Given the description of an element on the screen output the (x, y) to click on. 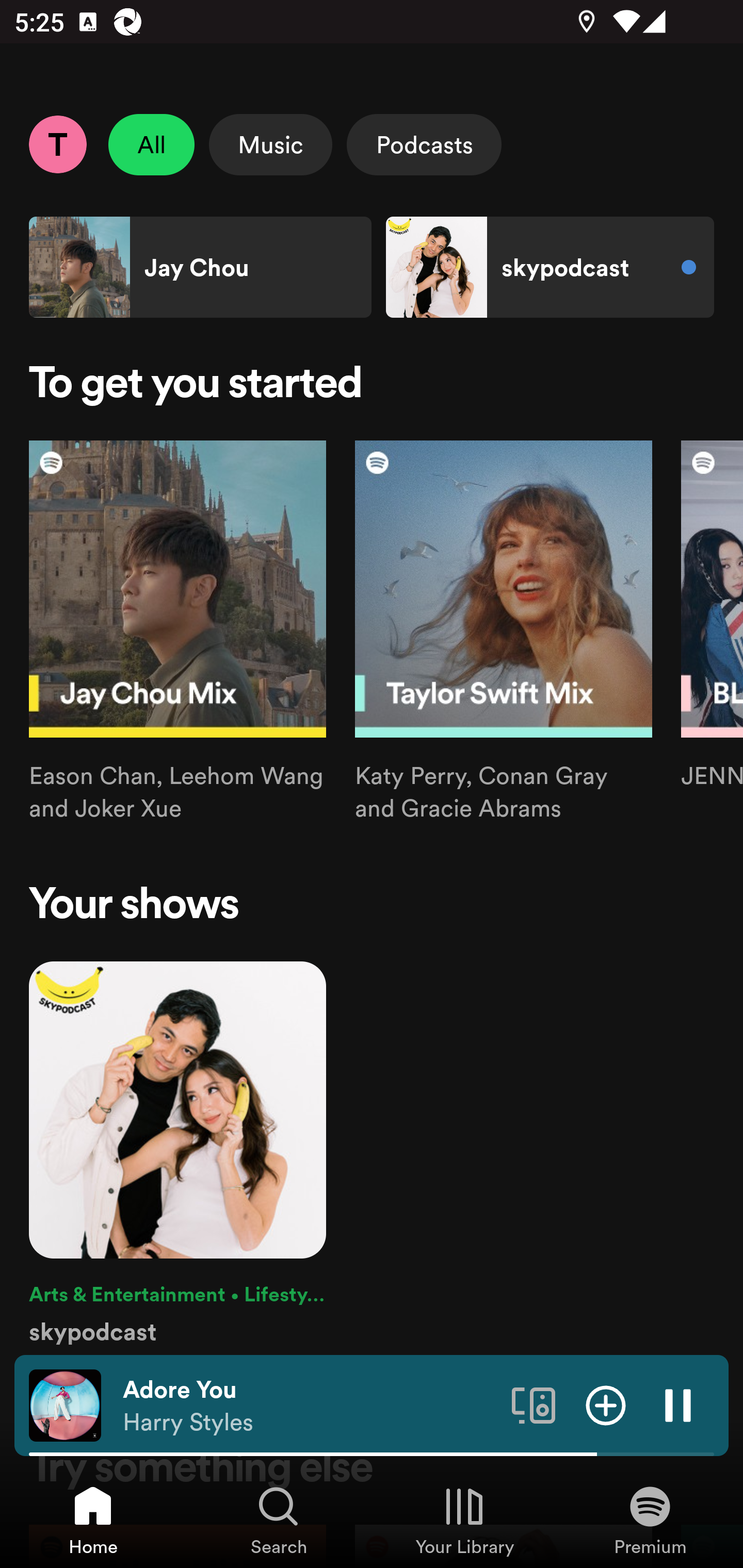
Profile (57, 144)
All Unselect All (151, 144)
Music Select Music (270, 144)
Podcasts Select Podcasts (423, 144)
Jay Chou Shortcut Jay Chou (199, 267)
skypodcast Shortcut skypodcast New content (549, 267)
Adore You Harry Styles (309, 1405)
The cover art of the currently playing track (64, 1404)
Connect to a device. Opens the devices menu (533, 1404)
Add item (605, 1404)
Pause (677, 1404)
Home, Tab 1 of 4 Home Home (92, 1519)
Search, Tab 2 of 4 Search Search (278, 1519)
Your Library, Tab 3 of 4 Your Library Your Library (464, 1519)
Premium, Tab 4 of 4 Premium Premium (650, 1519)
